Given the description of an element on the screen output the (x, y) to click on. 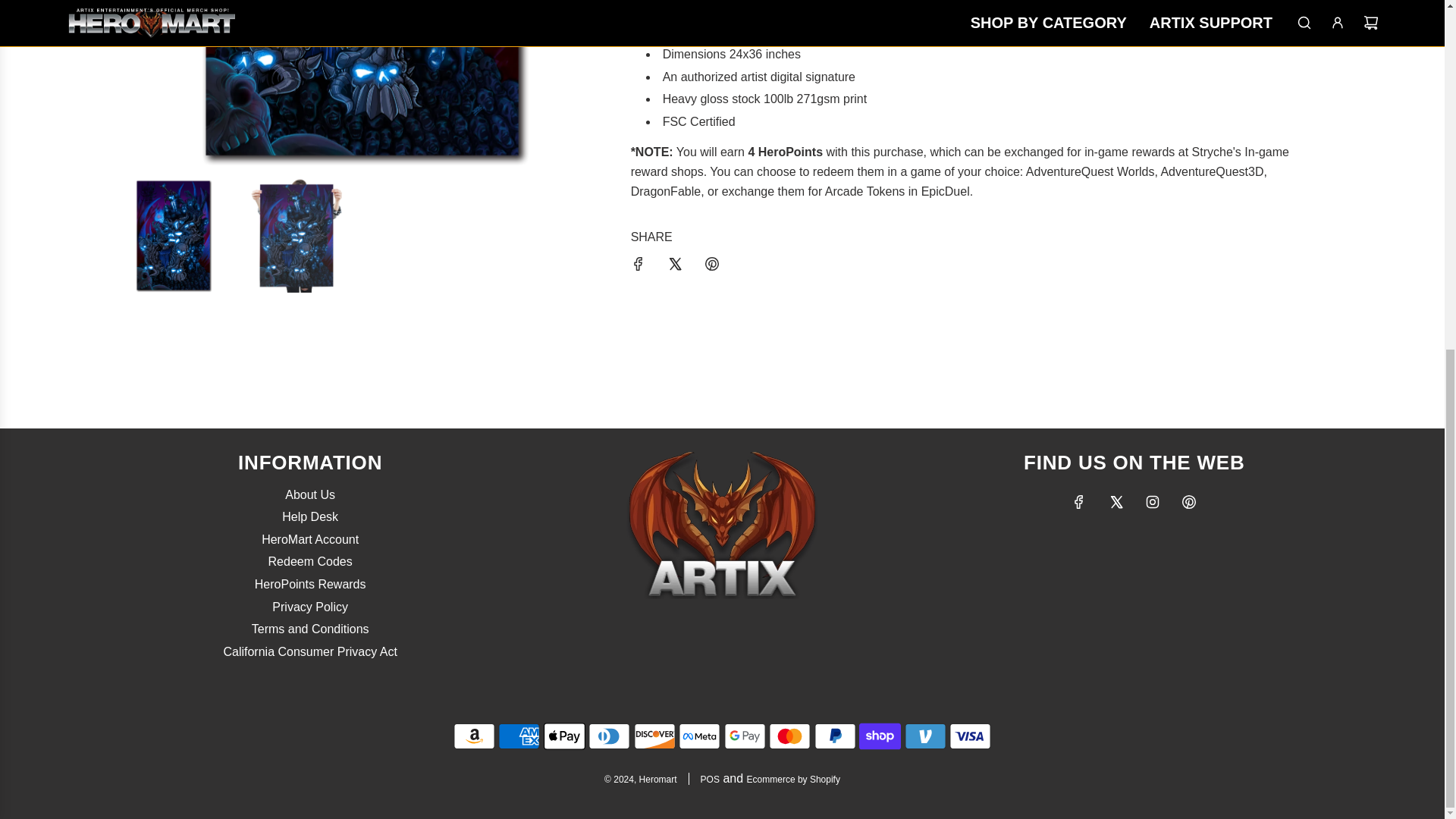
American Express (518, 736)
Apple Pay (564, 736)
Amazon (473, 736)
Diners Club (609, 736)
